Given the description of an element on the screen output the (x, y) to click on. 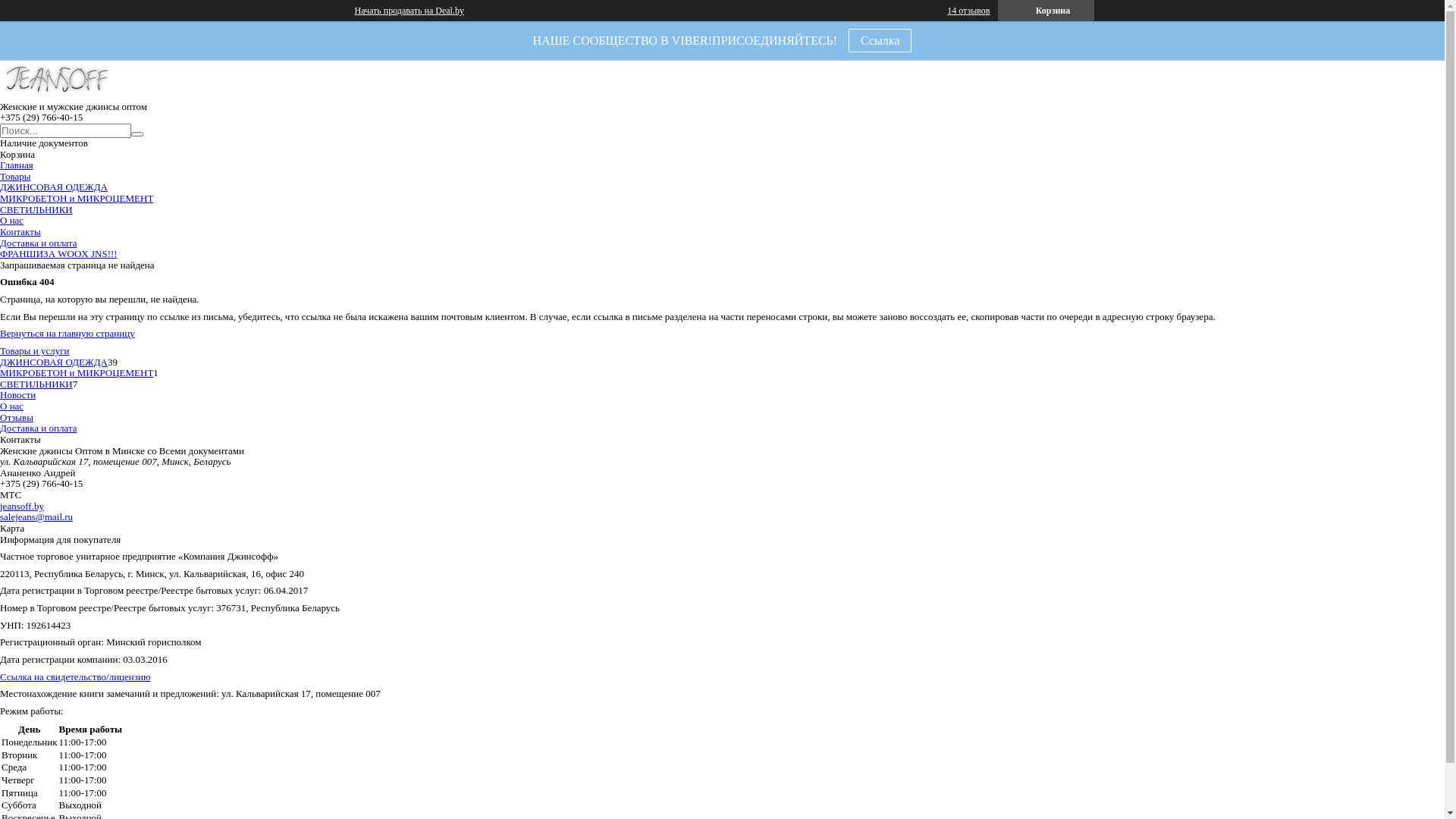
jeansoff.by Element type: text (21, 505)
salejeans@mail.ru Element type: text (36, 516)
